Given the description of an element on the screen output the (x, y) to click on. 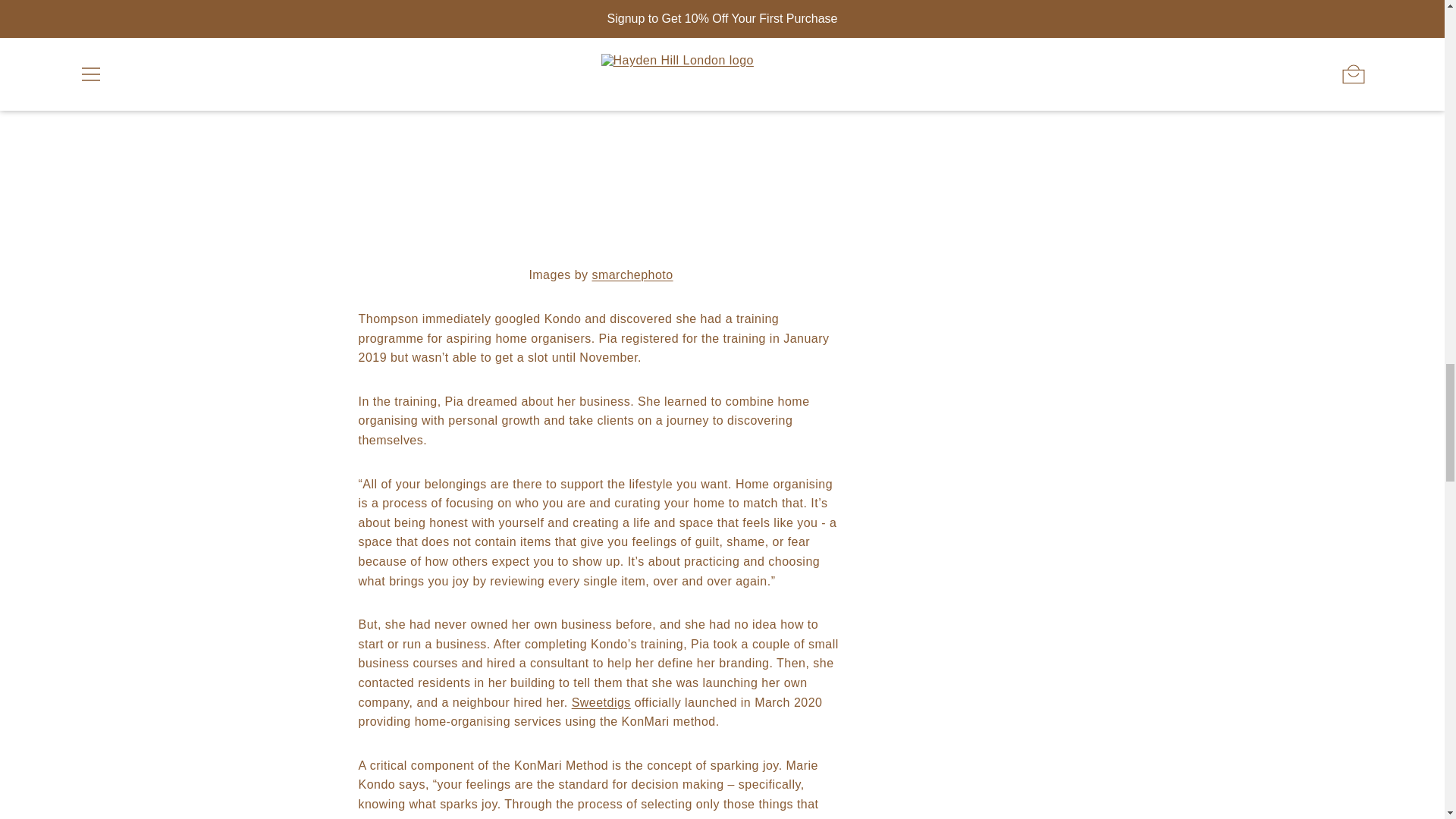
sweet digs (601, 702)
smarchephoto (631, 274)
Sweetdigs (601, 702)
